Given the description of an element on the screen output the (x, y) to click on. 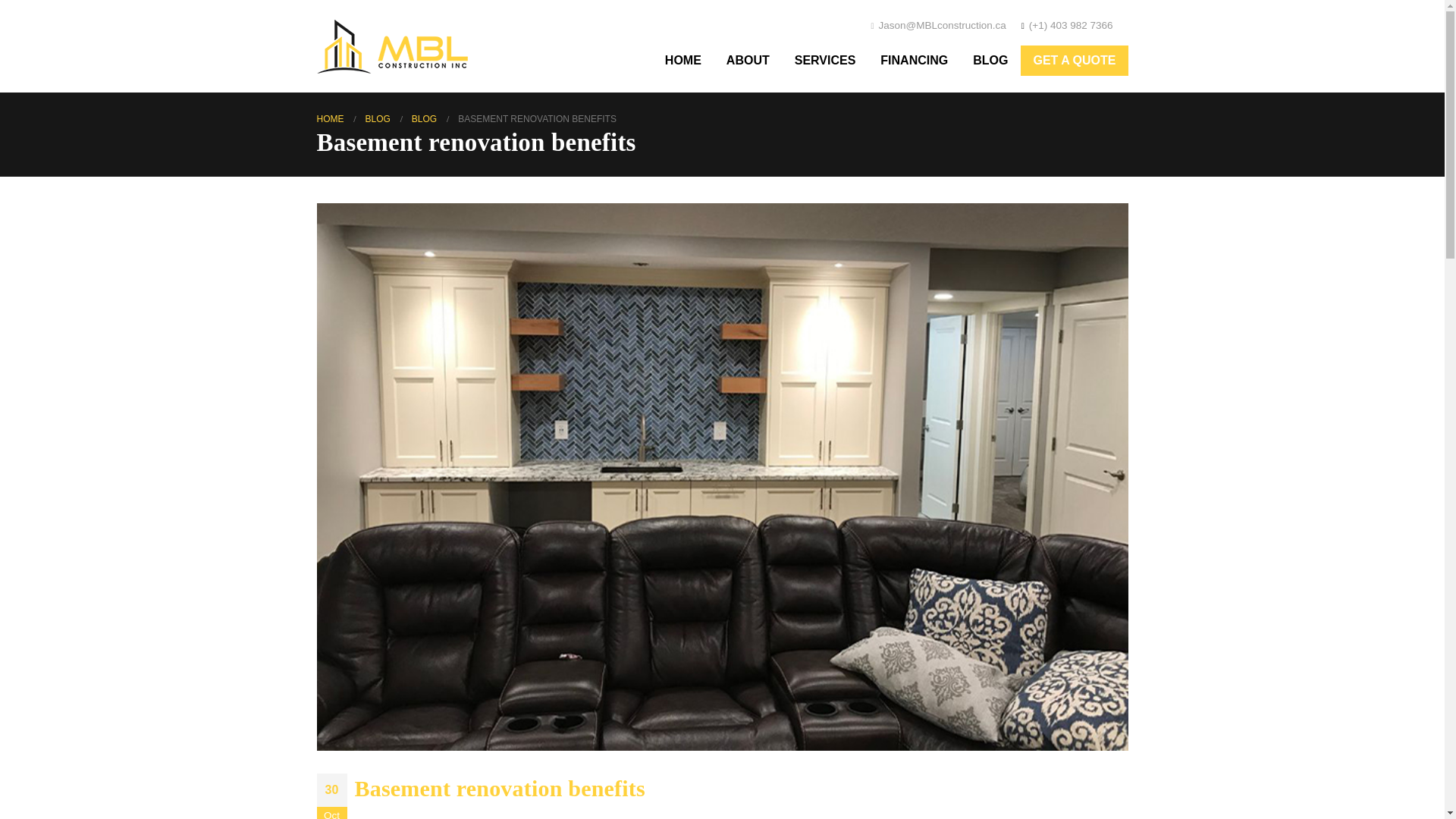
BLOG (424, 118)
SERVICES (825, 60)
HOME (330, 118)
GET A QUOTE (1073, 60)
BLOG (990, 60)
MBL Construction - Building Premium Spaces (392, 46)
FINANCING (913, 60)
Go to Home Page (330, 118)
HOME (682, 60)
BLOG (377, 118)
